Given the description of an element on the screen output the (x, y) to click on. 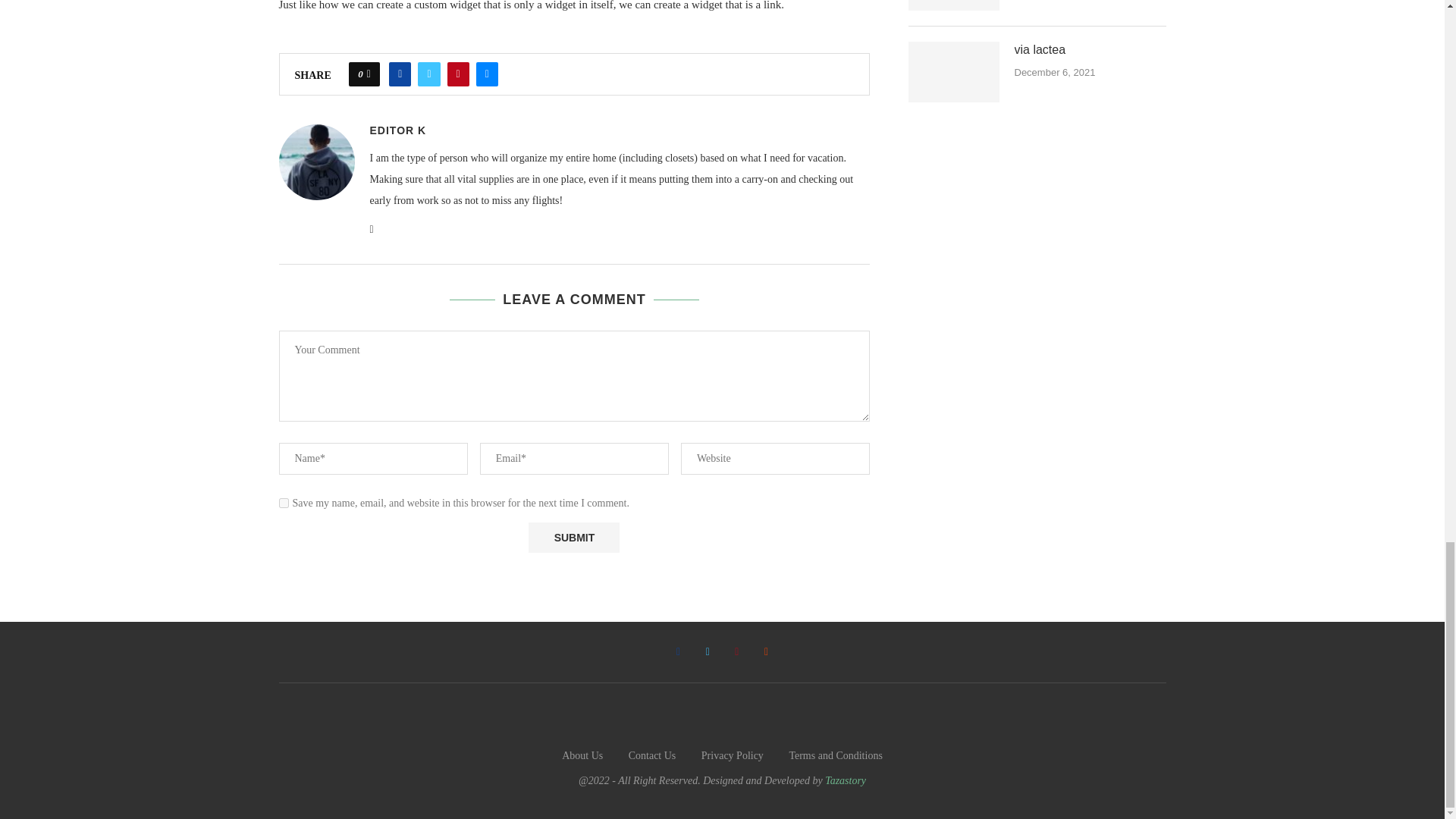
greece in spanish (953, 5)
via lactea (953, 71)
Posts by editor k (397, 130)
Submit (574, 537)
yes (283, 502)
via lactea (1090, 49)
